Given the description of an element on the screen output the (x, y) to click on. 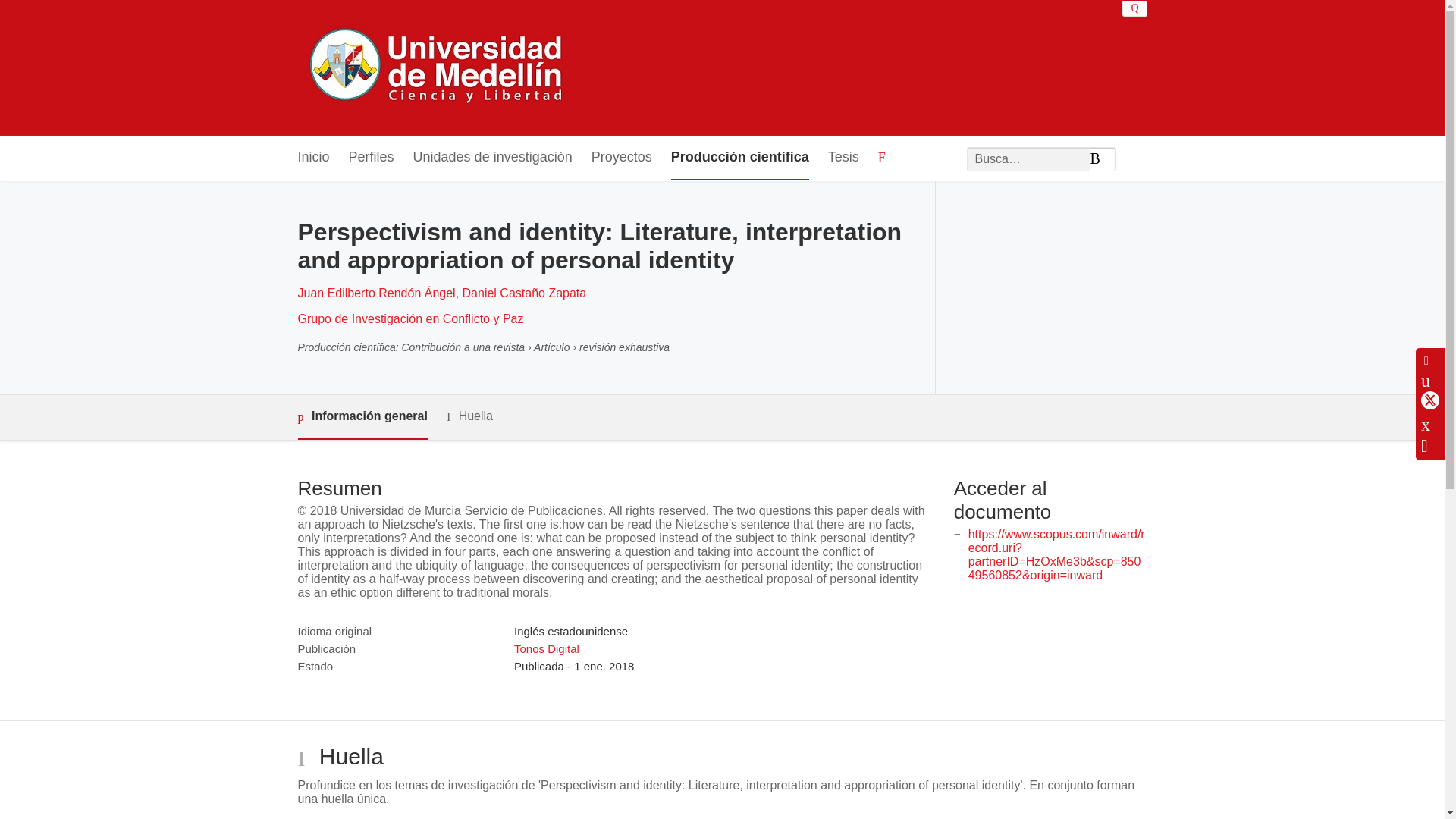
Huella (469, 416)
Tonos Digital (546, 648)
Perfiles (371, 157)
Proyectos (621, 157)
